Given the description of an element on the screen output the (x, y) to click on. 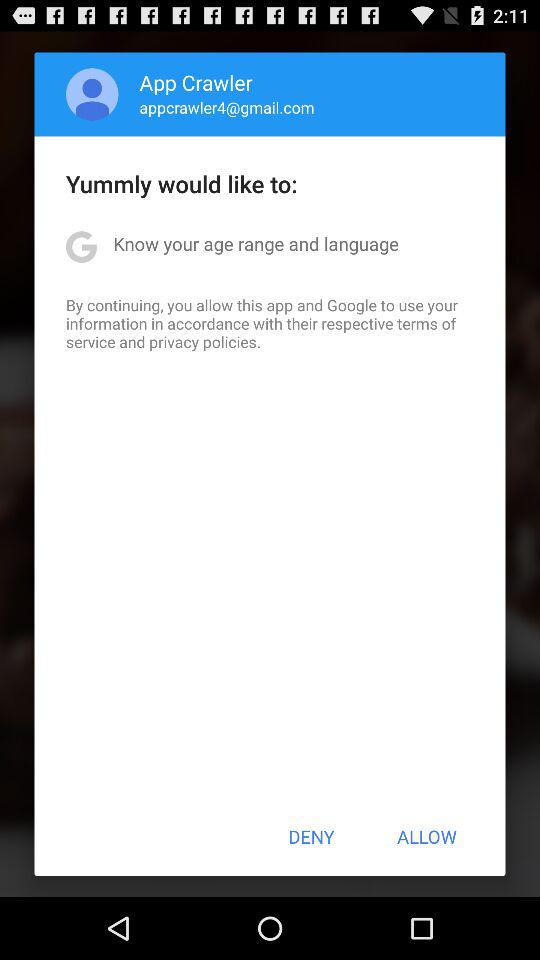
click appcrawler4@gmail.com app (226, 107)
